Given the description of an element on the screen output the (x, y) to click on. 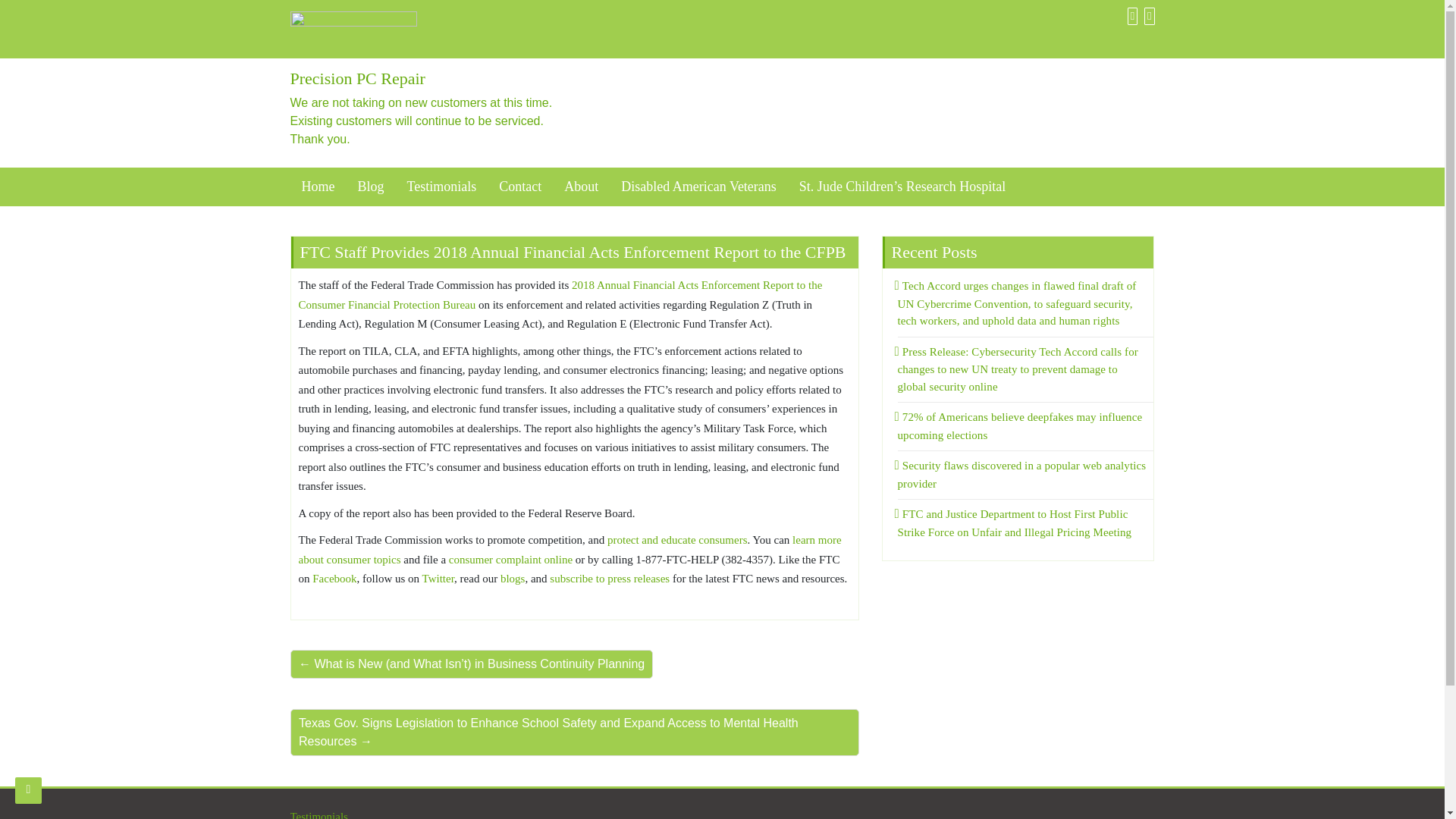
learn more about consumer topics (569, 549)
Twitter (438, 578)
blogs (512, 578)
Facebook (1130, 15)
Blog (370, 186)
Testimonials (318, 814)
subscribe to press releases (609, 578)
Facebook (334, 578)
Disabled American Veterans (698, 186)
About (581, 186)
